Given the description of an element on the screen output the (x, y) to click on. 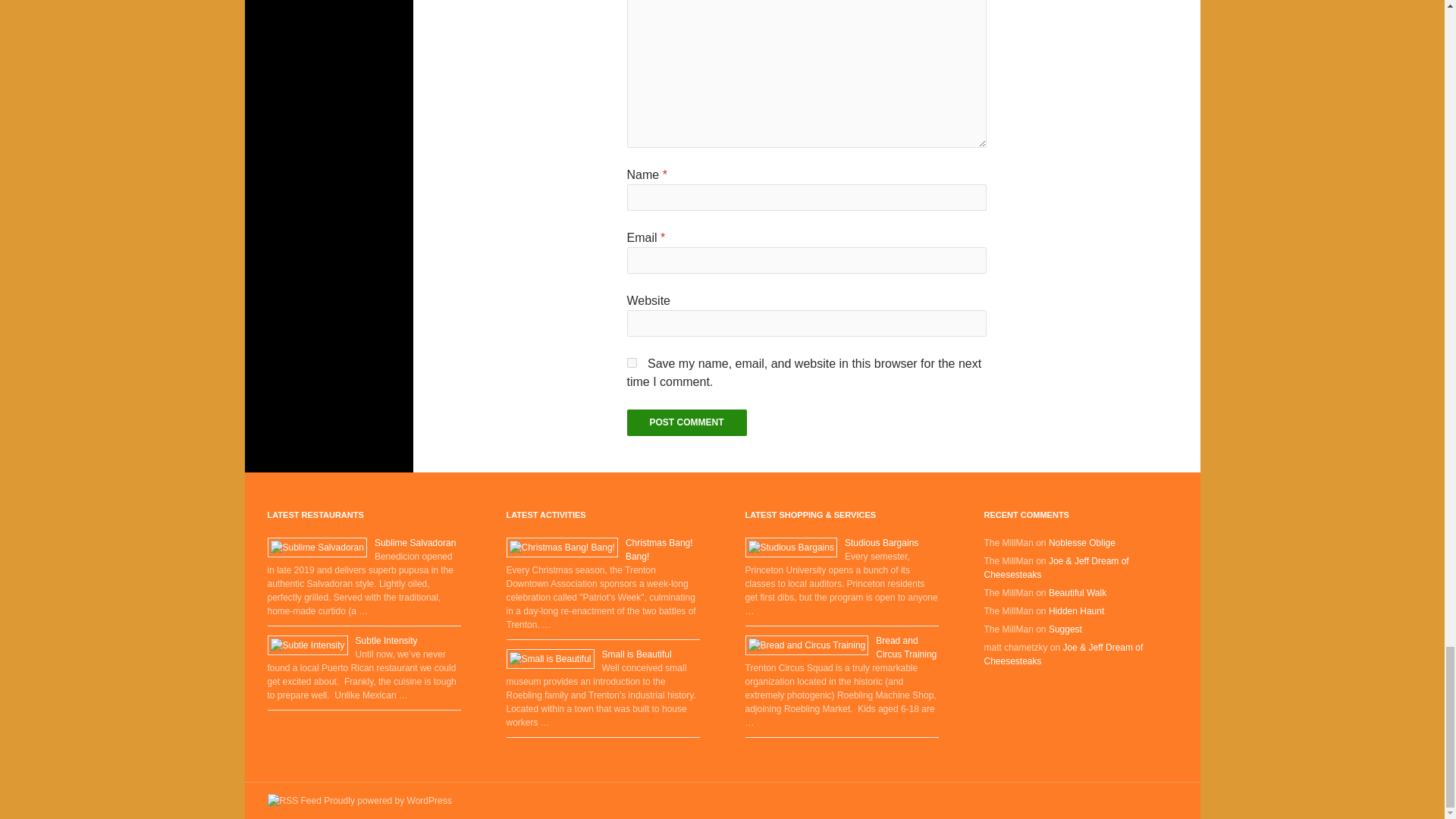
Permalink to Sublime Salvadoran (414, 542)
yes (631, 362)
Post Comment (685, 422)
